Given the description of an element on the screen output the (x, y) to click on. 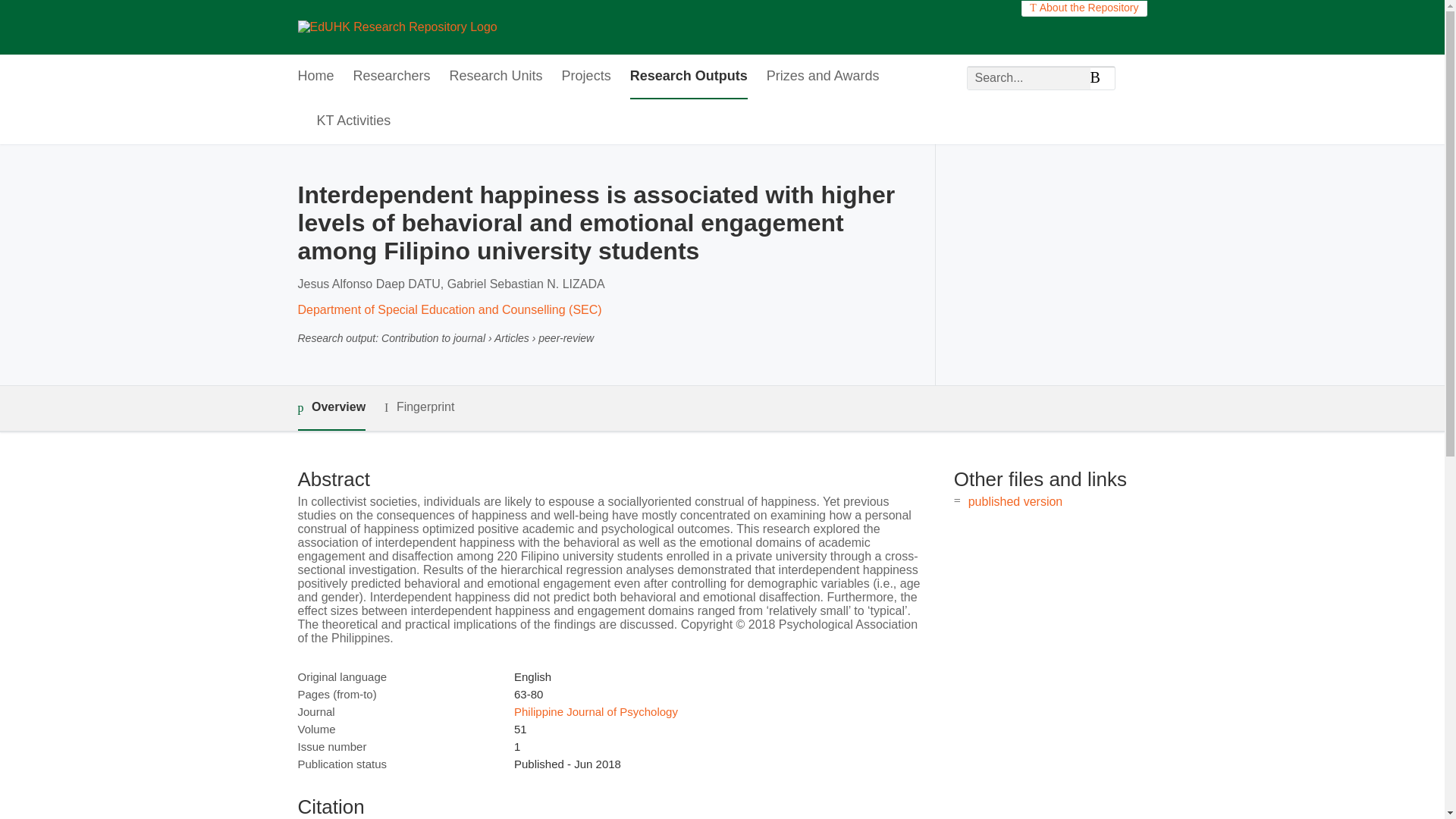
Philippine Journal of Psychology (595, 711)
Research Units (496, 76)
Projects (586, 76)
Prizes and Awards (823, 76)
Research Outputs (689, 76)
Overview (331, 407)
EdUHK Research Repository Home (396, 27)
KT Activities (354, 121)
published version (1015, 501)
